Given the description of an element on the screen output the (x, y) to click on. 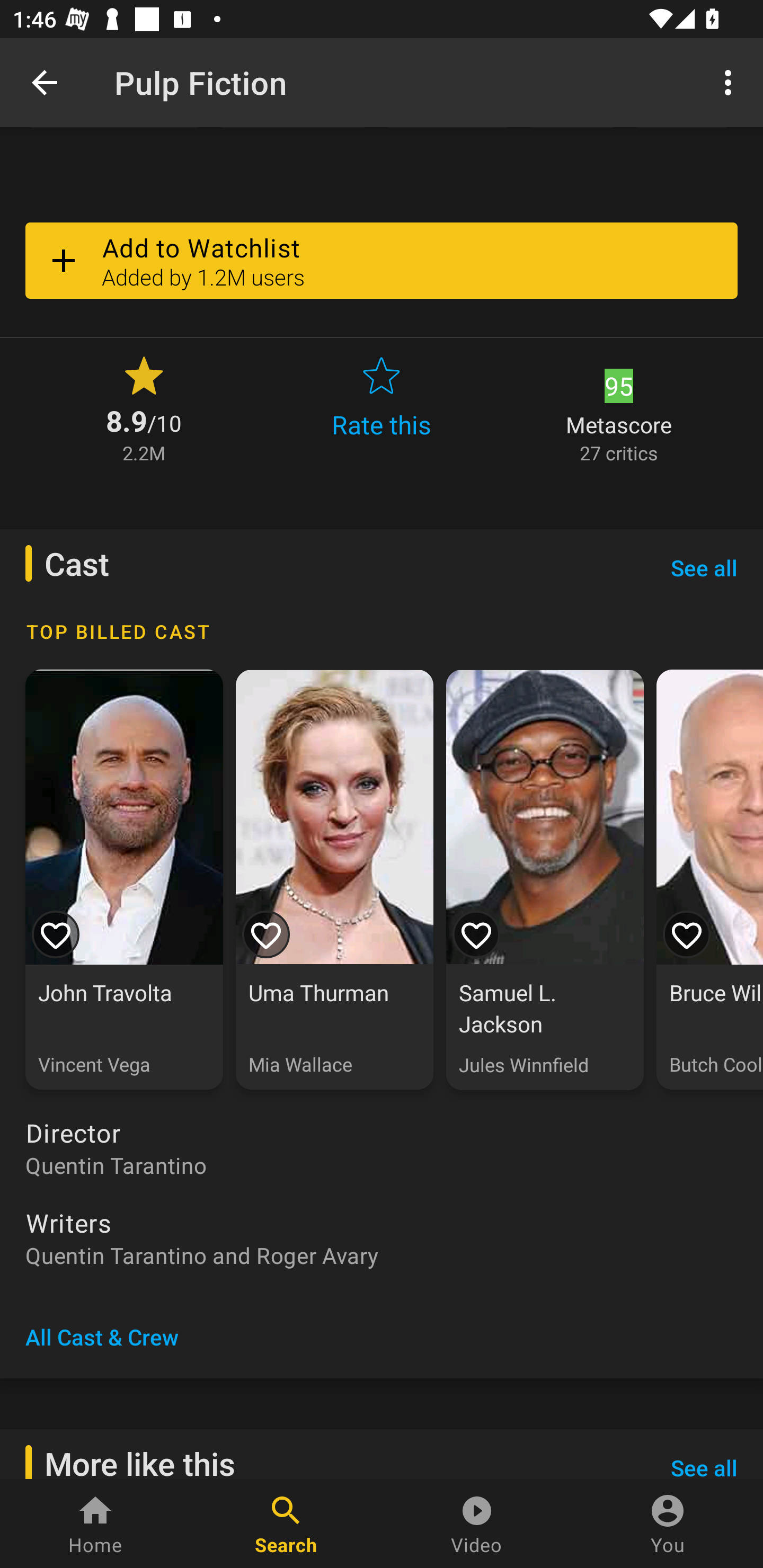
More options (731, 81)
Add to Watchlist Added by 1.2M users (381, 261)
8.9 /10 2.2M (143, 407)
Rate this (381, 407)
95 Metascore 27 critics (618, 407)
See all See all Cast (703, 567)
John Travolta Vincent Vega (123, 879)
Uma Thurman Mia Wallace (334, 879)
Samuel L. Jackson Jules Winnfield (544, 879)
Quentin Tarantino (381, 1164)
Quentin Tarantino and Roger Avary (381, 1255)
All Cast & Crew (101, 1336)
See all See all More like this (703, 1454)
Home (95, 1523)
Video (476, 1523)
